Given the description of an element on the screen output the (x, y) to click on. 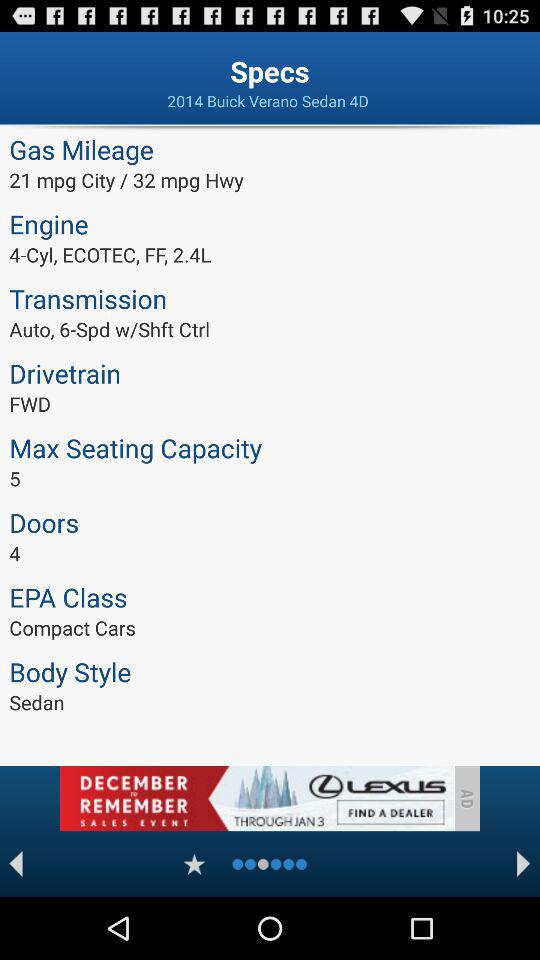
go to external advertisement page (256, 798)
